Given the description of an element on the screen output the (x, y) to click on. 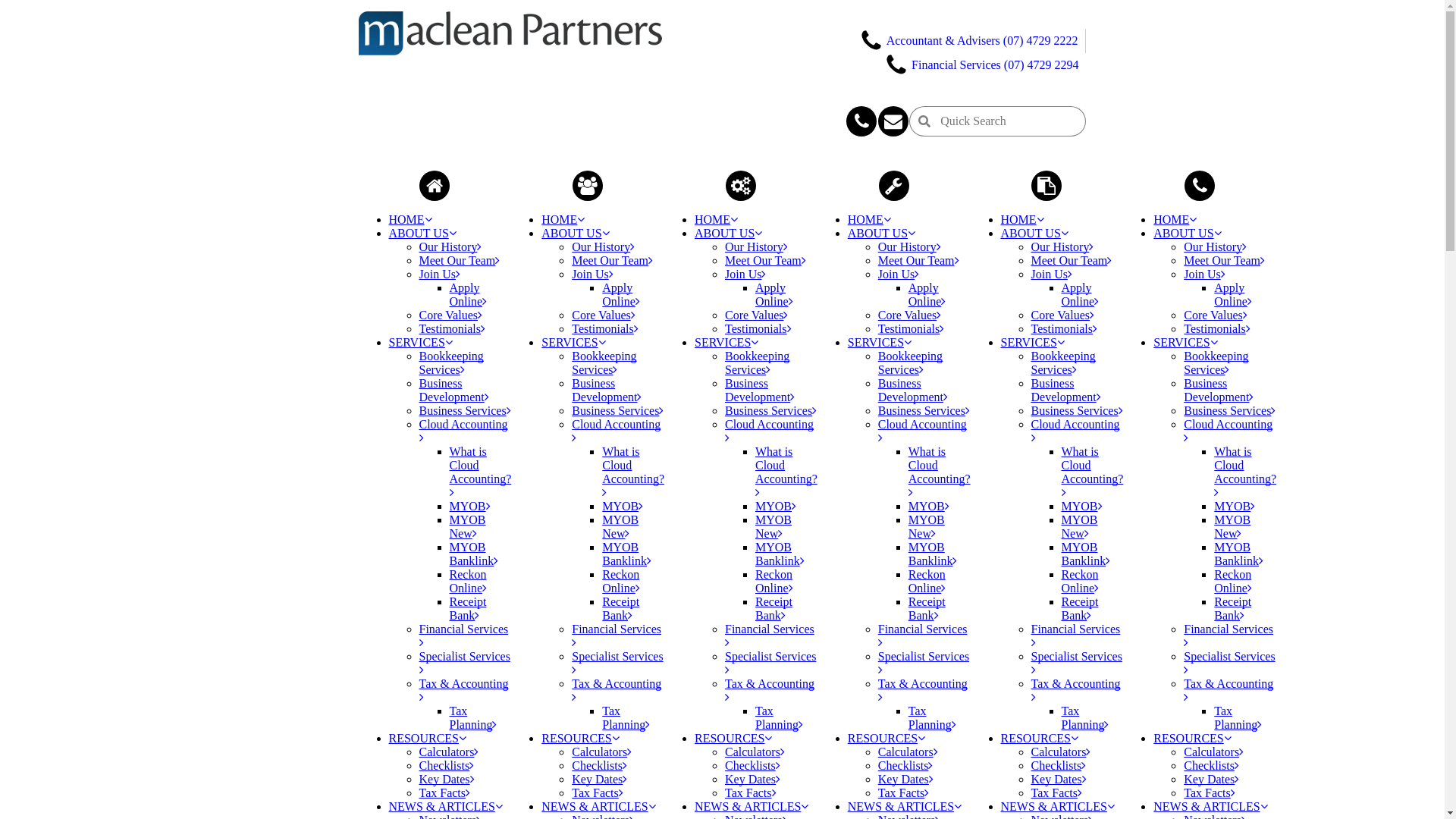
Business Services Element type: text (617, 410)
Financial Services Element type: text (463, 635)
Key Dates Element type: text (599, 778)
HOME Element type: text (715, 219)
What is Cloud Accounting? Element type: text (633, 471)
Cloud Accounting Element type: text (768, 430)
Financial Services Element type: text (616, 635)
Apply Online Element type: text (927, 294)
RESOURCES Element type: text (1039, 737)
Cloud Accounting Element type: text (462, 430)
MYOB New Element type: text (926, 526)
services Element type: text (740, 185)
SERVICES Element type: text (1032, 341)
SERVICES Element type: text (1185, 341)
Core Values Element type: text (755, 314)
contact_maclean_partners/contact_us Element type: text (861, 121)
Tax & Accounting Element type: text (922, 690)
HOME Element type: text (869, 219)
Core Values Element type: text (602, 314)
Apply Online Element type: text (774, 294)
Meet Our Team Element type: text (1071, 260)
ABOUT US Element type: text (881, 232)
Testimonials Element type: text (1216, 328)
Checklists Element type: text (1058, 765)
Receipt Bank Element type: text (773, 608)
Apply Online Element type: text (1080, 294)
ABOUT US Element type: text (574, 232)
Specialist Services Element type: text (463, 662)
Calculators Element type: text (1061, 751)
Tax & Accounting Element type: text (1228, 690)
Tax Facts Element type: text (1056, 792)
about_us Element type: text (587, 185)
Checklists Element type: text (905, 765)
Tax Planning Element type: text (1237, 717)
ABOUT US Element type: text (1186, 232)
What is Cloud Accounting? Element type: text (786, 471)
Business Development Element type: text (1066, 389)
Cloud Accounting Element type: text (922, 430)
Financial Services Element type: text (1075, 635)
RESOURCES Element type: text (1191, 737)
MYOB New Element type: text (1232, 526)
NEWS & ARTICLES Element type: text (1057, 806)
Reckon Online Element type: text (621, 580)
Reckon Online Element type: text (467, 580)
Tax & Accounting Element type: text (616, 690)
Key Dates Element type: text (752, 778)
Specialist Services Element type: text (616, 662)
HOME Element type: text (562, 219)
Checklists Element type: text (1211, 765)
Join Us Element type: text (1051, 273)
MYOB Element type: text (775, 505)
Financial Services (07) 4729 2294 Element type: text (981, 63)
SERVICES Element type: text (573, 341)
Testimonials Element type: text (1064, 328)
news___articles Element type: text (1046, 185)
Join Us Element type: text (1203, 273)
RESOURCES Element type: text (886, 737)
contact_maclean_partners/contact_us Element type: text (893, 121)
ABOUT US Element type: text (421, 232)
contact_maclean_partners Element type: text (1199, 185)
MYOB New Element type: text (466, 526)
Tax Planning Element type: text (779, 717)
Financial Services Element type: text (769, 635)
What is Cloud Accounting? Element type: text (1245, 471)
What is Cloud Accounting? Element type: text (939, 471)
Join Us Element type: text (744, 273)
Checklists Element type: text (445, 765)
NEWS & ARTICLES Element type: text (751, 806)
Calculators Element type: text (1213, 751)
Our History Element type: text (602, 246)
Tax Planning Element type: text (932, 717)
Our History Element type: text (449, 246)
Checklists Element type: text (599, 765)
MYOB New Element type: text (773, 526)
Receipt Bank Element type: text (620, 608)
Business Development Element type: text (1218, 389)
Core Values Element type: text (449, 314)
Specialist Services Element type: text (923, 662)
MYOB Element type: text (928, 505)
Bookkeeping Services Element type: text (450, 362)
Core Values Element type: text (1062, 314)
Receipt Bank Element type: text (926, 608)
NEWS & ARTICLES Element type: text (445, 806)
Specialist Services Element type: text (769, 662)
Business Services Element type: text (923, 410)
Cloud Accounting Element type: text (1075, 430)
Calculators Element type: text (448, 751)
Calculators Element type: text (601, 751)
Tax Planning Element type: text (472, 717)
MYOB Element type: text (1234, 505)
home Element type: text (434, 185)
Meet Our Team Element type: text (1223, 260)
Business Development Element type: text (453, 389)
Core Values Element type: text (909, 314)
Specialist Services Element type: text (1076, 662)
MYOB Banklink Element type: text (626, 553)
Specialist Services Element type: text (1228, 662)
RESOURCES Element type: text (579, 737)
Meet Our Team Element type: text (611, 260)
MYOB Element type: text (622, 505)
Key Dates Element type: text (1211, 778)
Tax Facts Element type: text (903, 792)
NEWS & ARTICLES Element type: text (904, 806)
Our History Element type: text (909, 246)
Business Development Element type: text (912, 389)
Business Services Element type: text (1077, 410)
Receipt Bank Element type: text (1232, 608)
HOME Element type: text (1022, 219)
SERVICES Element type: text (726, 341)
RESOURCES Element type: text (426, 737)
Key Dates Element type: text (445, 778)
Join Us Element type: text (591, 273)
Tax Facts Element type: text (444, 792)
Financial Services Element type: text (922, 635)
Our History Element type: text (755, 246)
What is Cloud Accounting? Element type: text (1092, 471)
RESOURCES Element type: text (732, 737)
Key Dates Element type: text (1058, 778)
Accountant & Advisers (07) 4729 2222 Element type: text (968, 39)
MYOB New Element type: text (620, 526)
Bookkeeping Services Element type: text (756, 362)
HOME Element type: text (409, 219)
Business Services Element type: text (1229, 410)
MYOB Element type: text (1081, 505)
MYOB Banklink Element type: text (1085, 553)
Checklists Element type: text (752, 765)
Tax & Accounting Element type: text (463, 690)
Business Development Element type: text (759, 389)
Meet Our Team Element type: text (458, 260)
Join Us Element type: text (438, 273)
Meet Our Team Element type: text (918, 260)
Tax Facts Element type: text (1209, 792)
Apply Online Element type: text (1233, 294)
MYOB Banklink Element type: text (932, 553)
Reckon Online Element type: text (927, 580)
Meet Our Team Element type: text (765, 260)
Tax & Accounting Element type: text (769, 690)
Business Development Element type: text (606, 389)
Our History Element type: text (1214, 246)
Bookkeeping Services Element type: text (1063, 362)
Bookkeeping Services Element type: text (1215, 362)
Tax Facts Element type: text (750, 792)
Tax & Accounting Element type: text (1075, 690)
Tax Planning Element type: text (625, 717)
Financial Services Element type: text (1228, 635)
Core Values Element type: text (1214, 314)
MYOB New Element type: text (1079, 526)
Calculators Element type: text (754, 751)
Reckon Online Element type: text (1233, 580)
ABOUT US Element type: text (1034, 232)
Our History Element type: text (1062, 246)
Reckon Online Element type: text (1080, 580)
resources Element type: text (893, 185)
Business Services Element type: text (770, 410)
Receipt Bank Element type: text (1079, 608)
Calculators Element type: text (908, 751)
Bookkeeping Services Element type: text (603, 362)
What is Cloud Accounting? Element type: text (479, 471)
NEWS & ARTICLES Element type: text (1210, 806)
Bookkeeping Services Element type: text (910, 362)
Testimonials Element type: text (911, 328)
Testimonials Element type: text (604, 328)
MYOB Banklink Element type: text (1238, 553)
Cloud Accounting Element type: text (1227, 430)
MYOB Element type: text (468, 505)
Key Dates Element type: text (905, 778)
NEWS & ARTICLES Element type: text (598, 806)
Cloud Accounting Element type: text (615, 430)
Tax Planning Element type: text (1085, 717)
Tax Facts Element type: text (597, 792)
SERVICES Element type: text (879, 341)
SERVICES Element type: text (419, 341)
MYOB Banklink Element type: text (473, 553)
Apply Online Element type: text (621, 294)
Testimonials Element type: text (757, 328)
Join Us Element type: text (898, 273)
Apply Online Element type: text (467, 294)
MYOB Banklink Element type: text (779, 553)
Receipt Bank Element type: text (467, 608)
Testimonials Element type: text (451, 328)
ABOUT US Element type: text (728, 232)
Reckon Online Element type: text (774, 580)
HOME Element type: text (1174, 219)
Business Services Element type: text (464, 410)
